Given the description of an element on the screen output the (x, y) to click on. 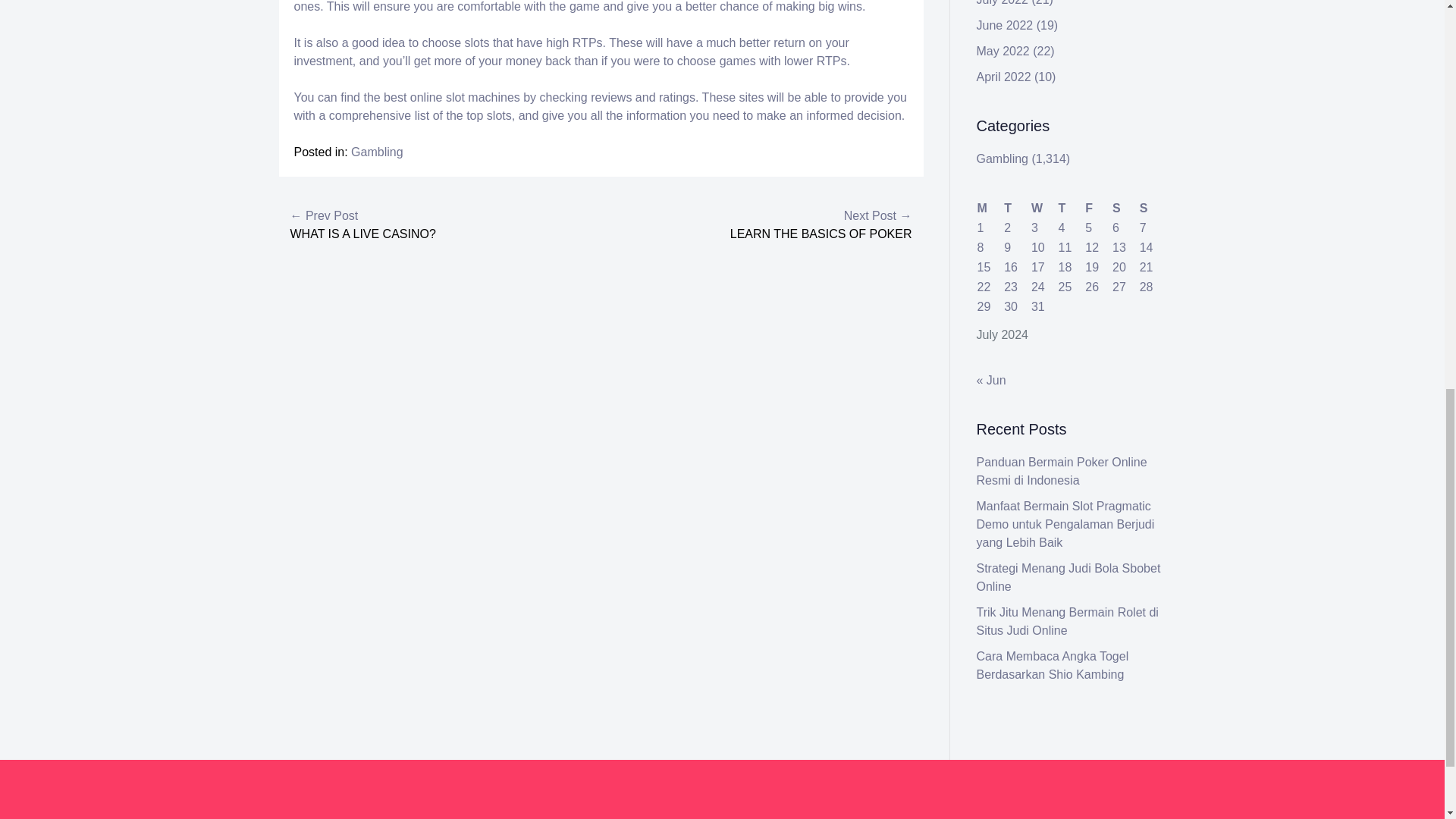
June 2022 (1004, 24)
July 2022 (1002, 2)
Tuesday (1016, 208)
Monday (990, 208)
Gambling (376, 151)
Saturday (1125, 208)
May 2022 (1002, 51)
Friday (1098, 208)
Thursday (1071, 208)
April 2022 (1003, 76)
Sunday (1152, 208)
Wednesday (1044, 208)
